Given the description of an element on the screen output the (x, y) to click on. 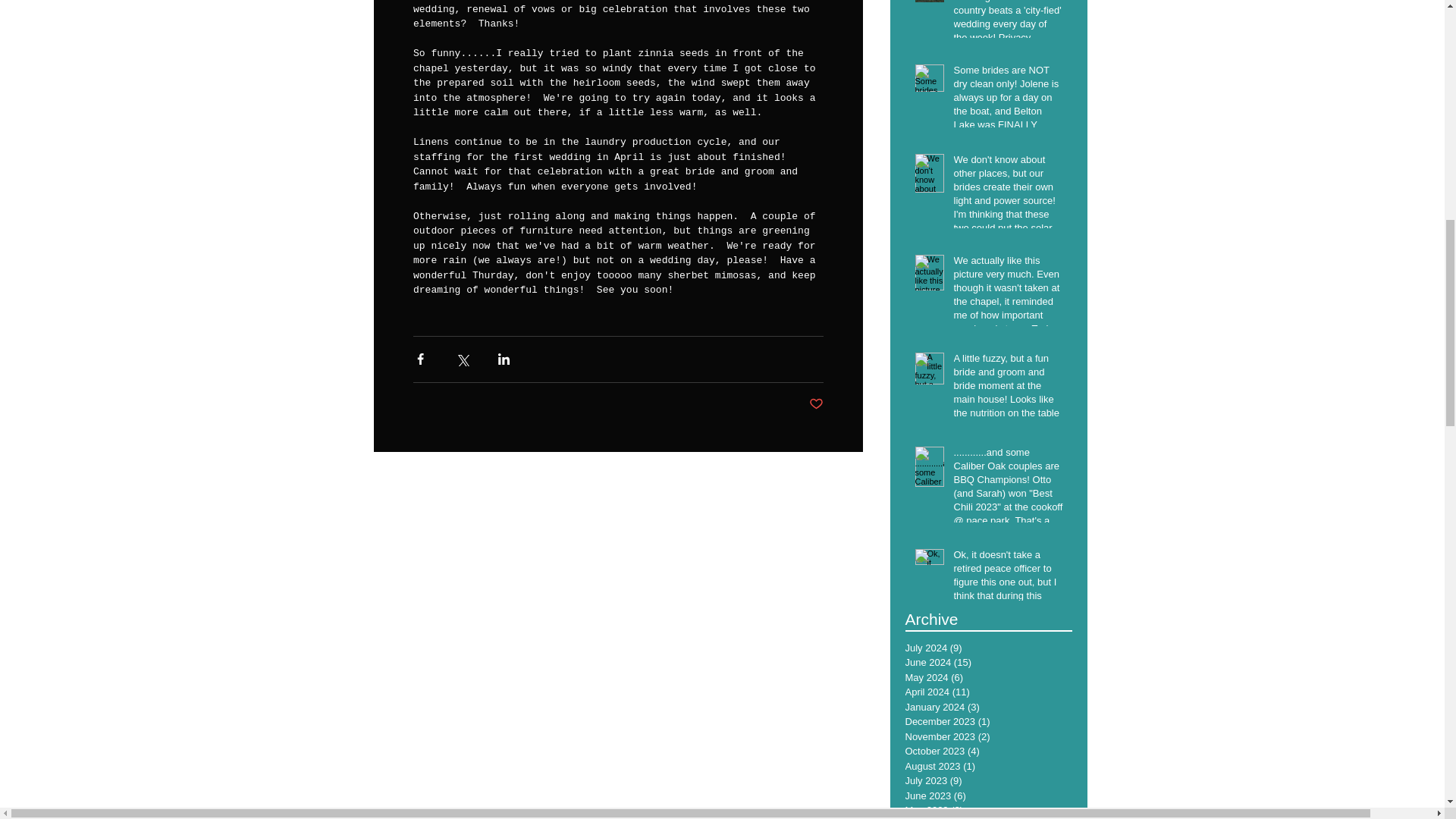
Post not marked as liked (815, 403)
Anybody Hungry? Who Wouldn't be?!?!? (1080, 590)
